Given the description of an element on the screen output the (x, y) to click on. 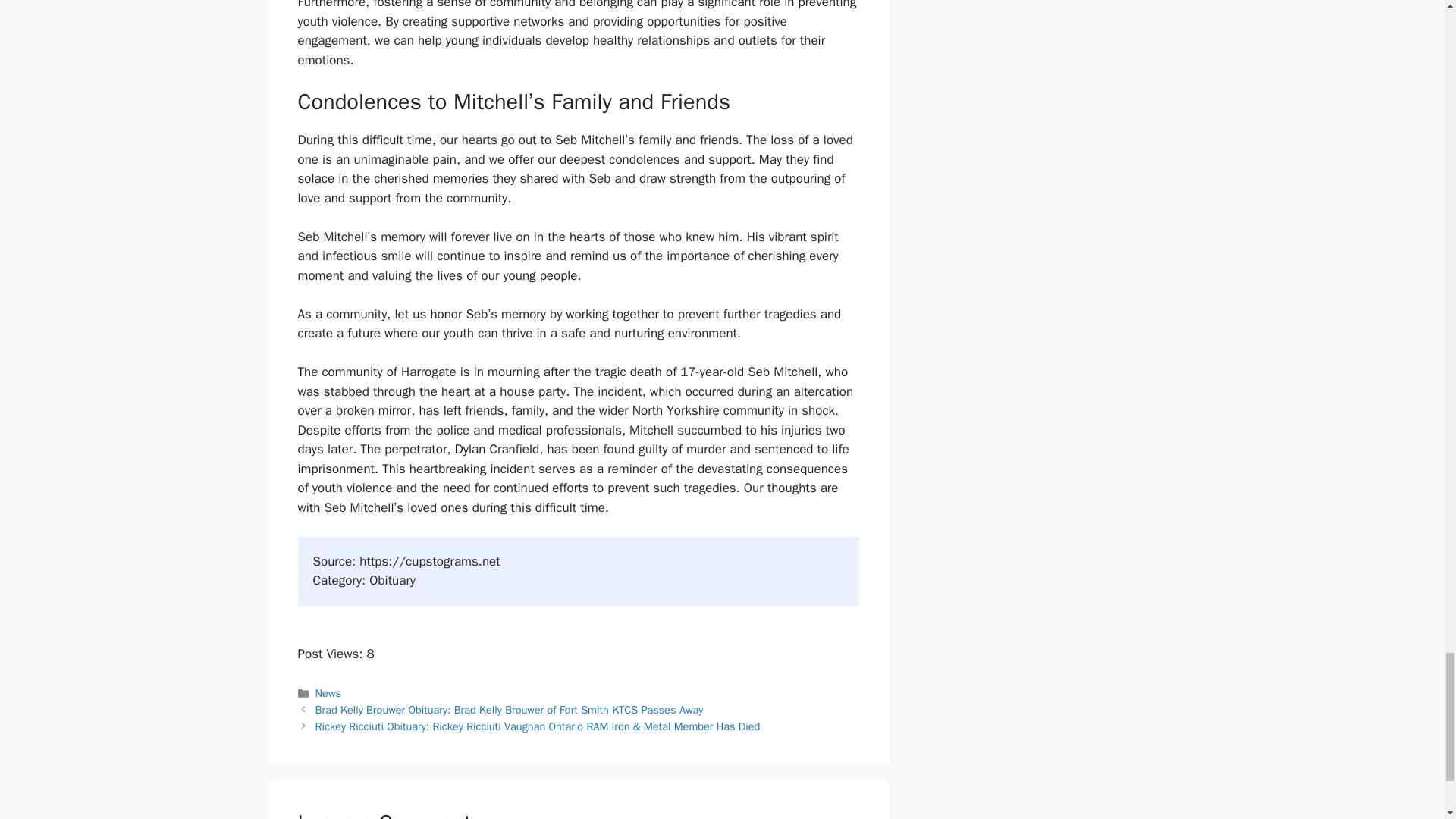
News (327, 693)
